Given the description of an element on the screen output the (x, y) to click on. 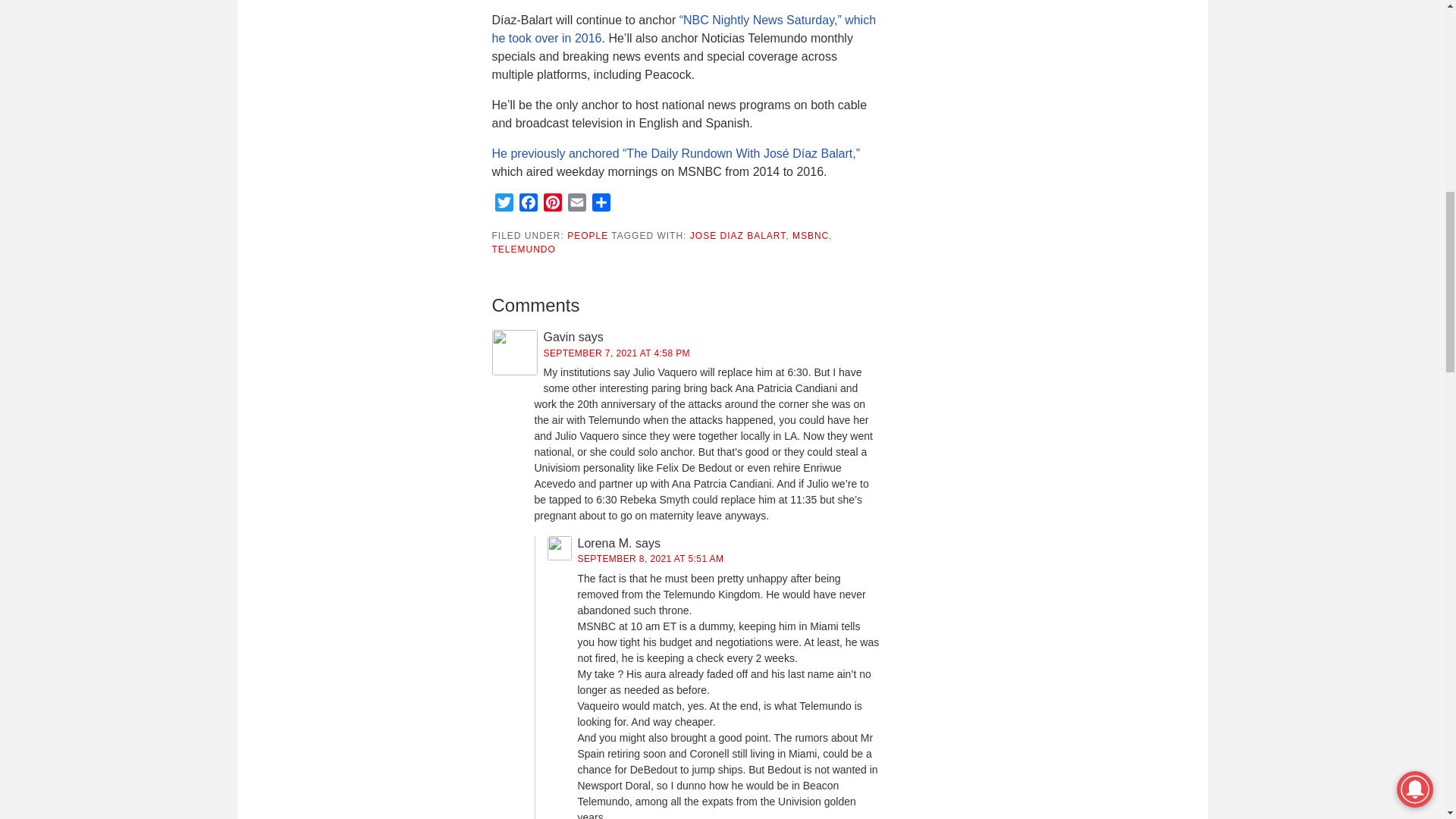
Facebook (527, 205)
Pinterest (552, 205)
Twitter (503, 205)
Pinterest (552, 205)
Email (576, 205)
Email (576, 205)
PEOPLE (587, 235)
TELEMUNDO (523, 249)
SEPTEMBER 7, 2021 AT 4:58 PM (616, 353)
MSBNC (810, 235)
JOSE DIAZ BALART (738, 235)
Twitter (503, 205)
Share (600, 205)
Facebook (527, 205)
